Given the description of an element on the screen output the (x, y) to click on. 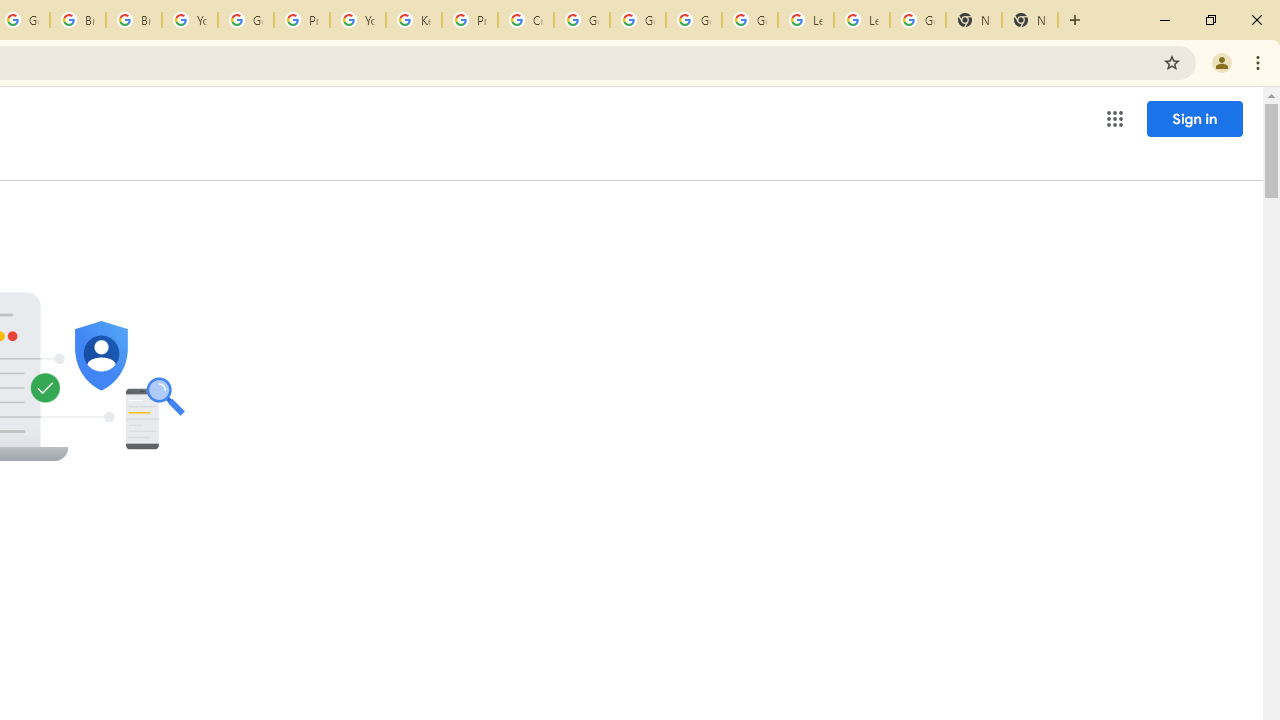
Brand Resource Center (77, 20)
New Tab (973, 20)
Google Account Help (637, 20)
Google Account Help (245, 20)
Google Account Help (582, 20)
Google Account Help (693, 20)
